Given the description of an element on the screen output the (x, y) to click on. 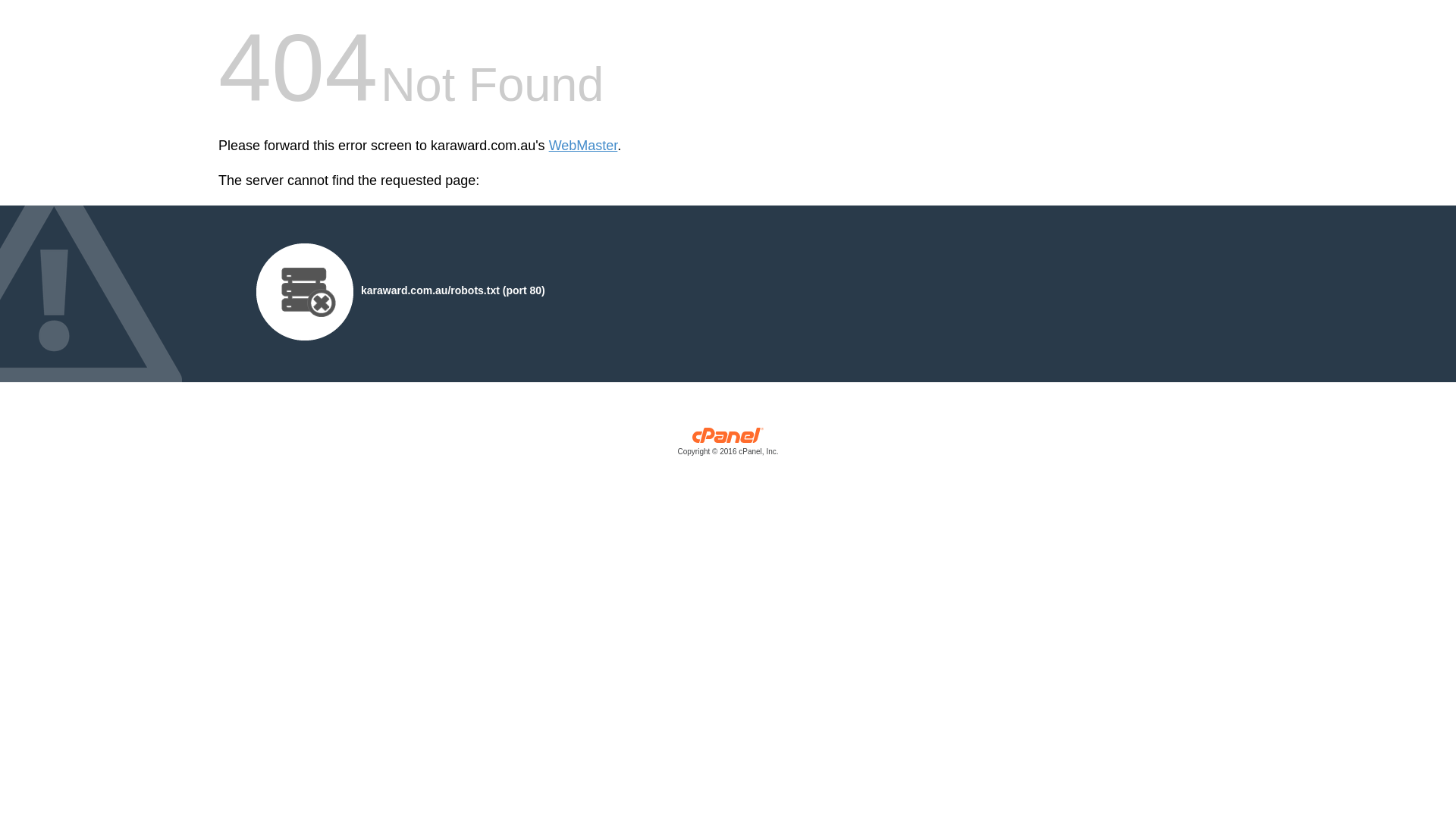
WebMaster Element type: text (583, 145)
